Given the description of an element on the screen output the (x, y) to click on. 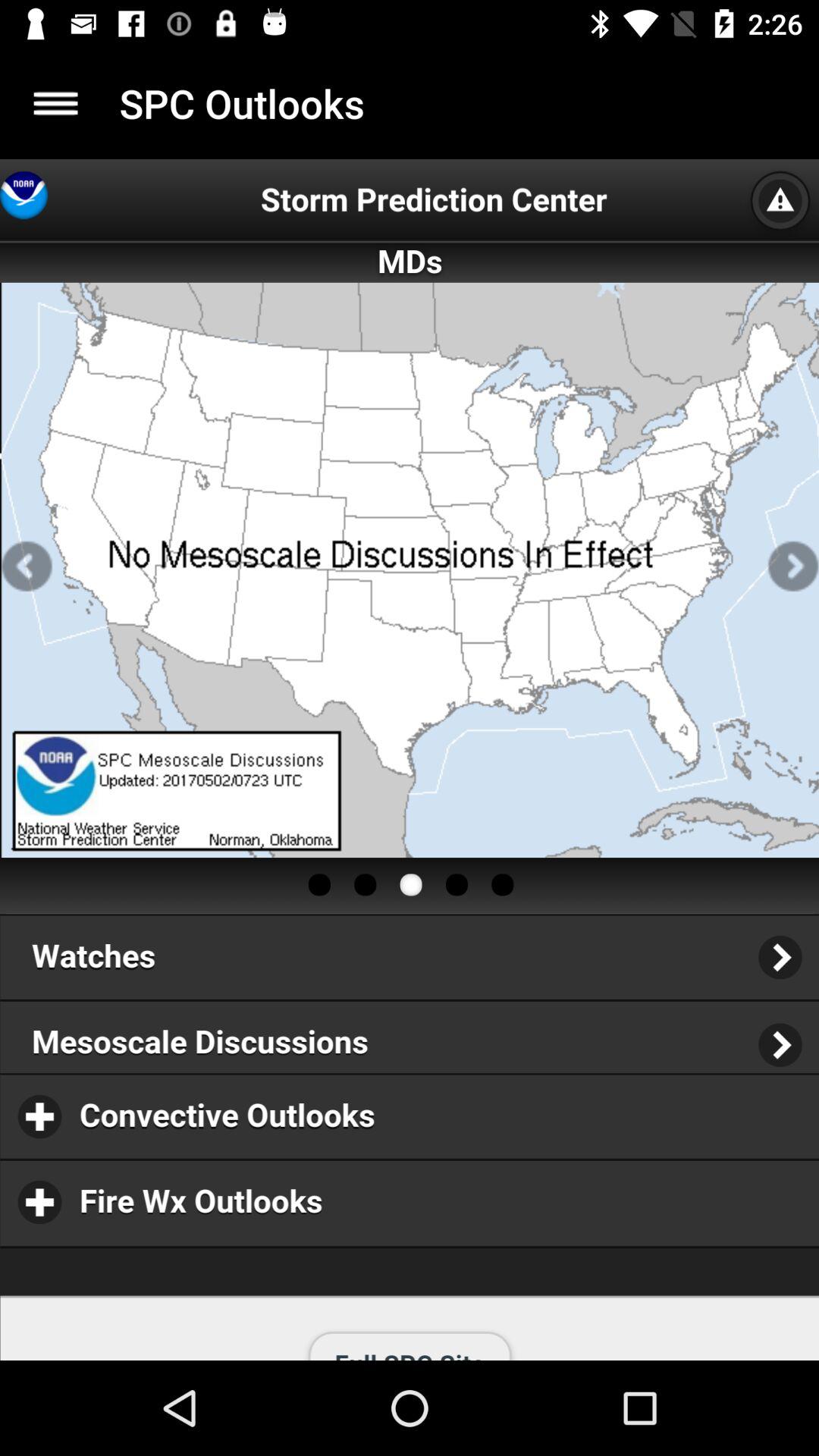
launch item to the left of the spc outlooks (55, 103)
